Given the description of an element on the screen output the (x, y) to click on. 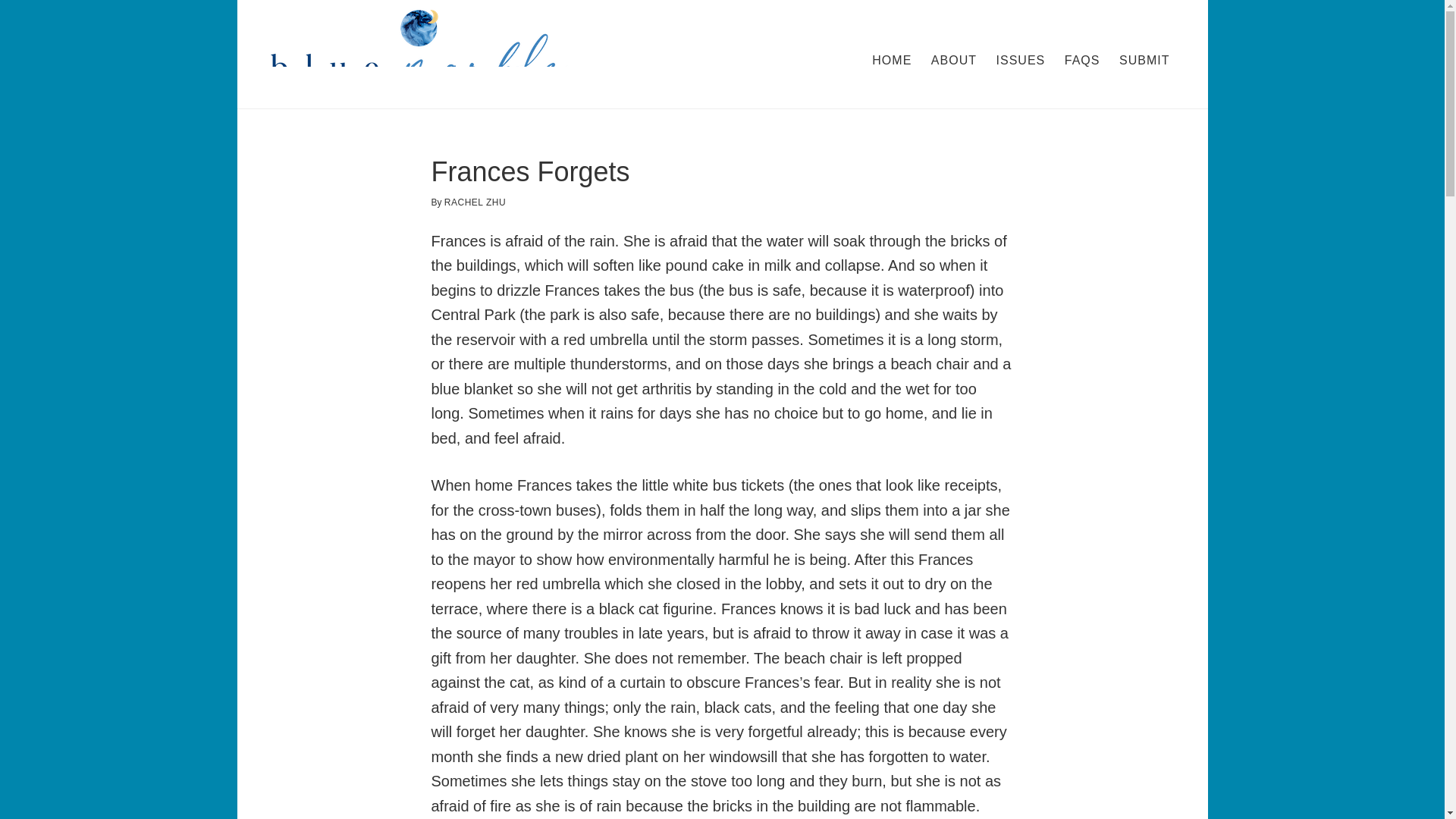
ISSUES (1020, 60)
SUBMIT (1144, 60)
ABOUT (953, 60)
HOME (891, 60)
FAQS (1082, 60)
BLUE MARBLE REVIEW (418, 55)
